Given the description of an element on the screen output the (x, y) to click on. 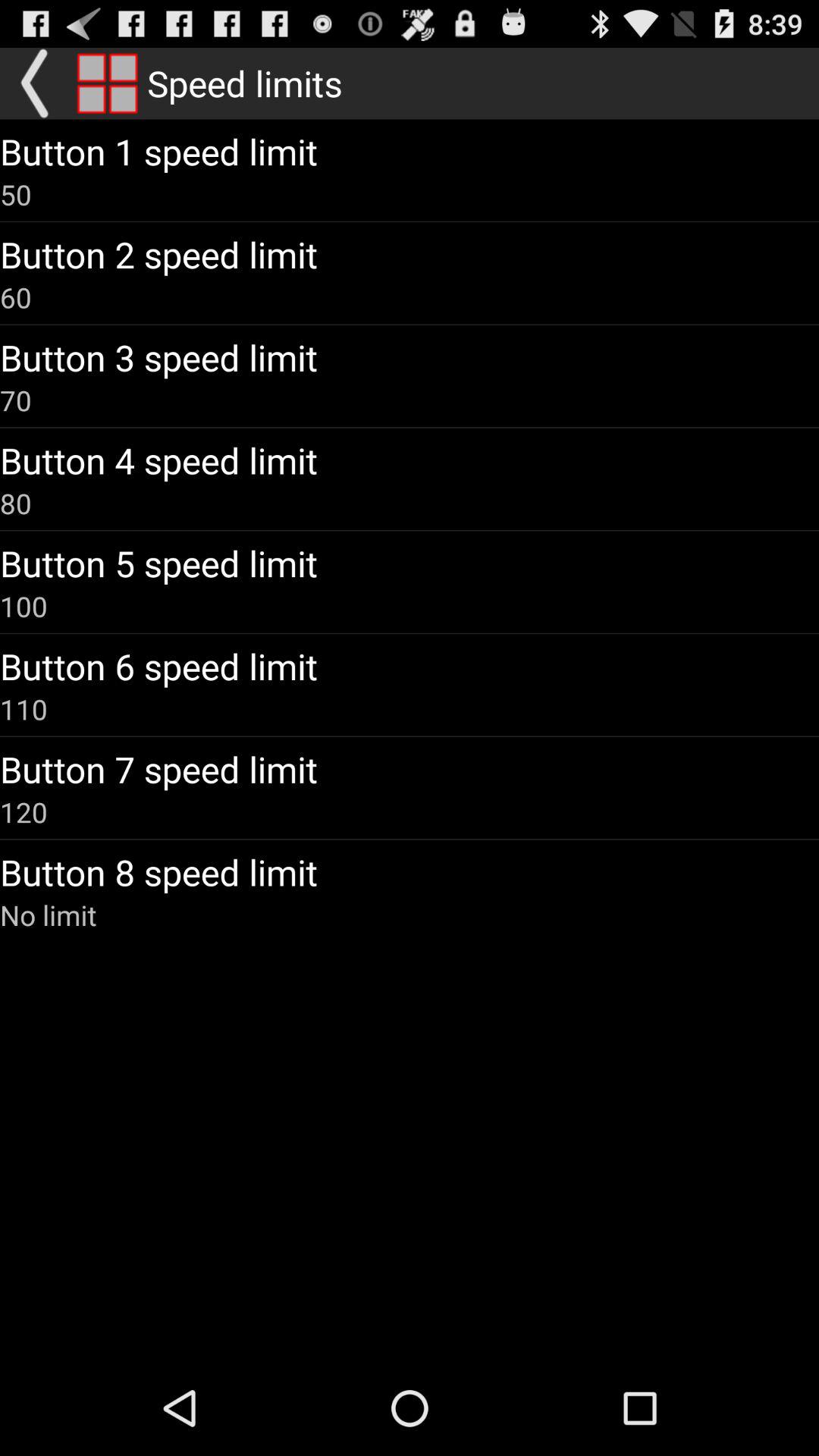
tap 110 item (23, 709)
